Given the description of an element on the screen output the (x, y) to click on. 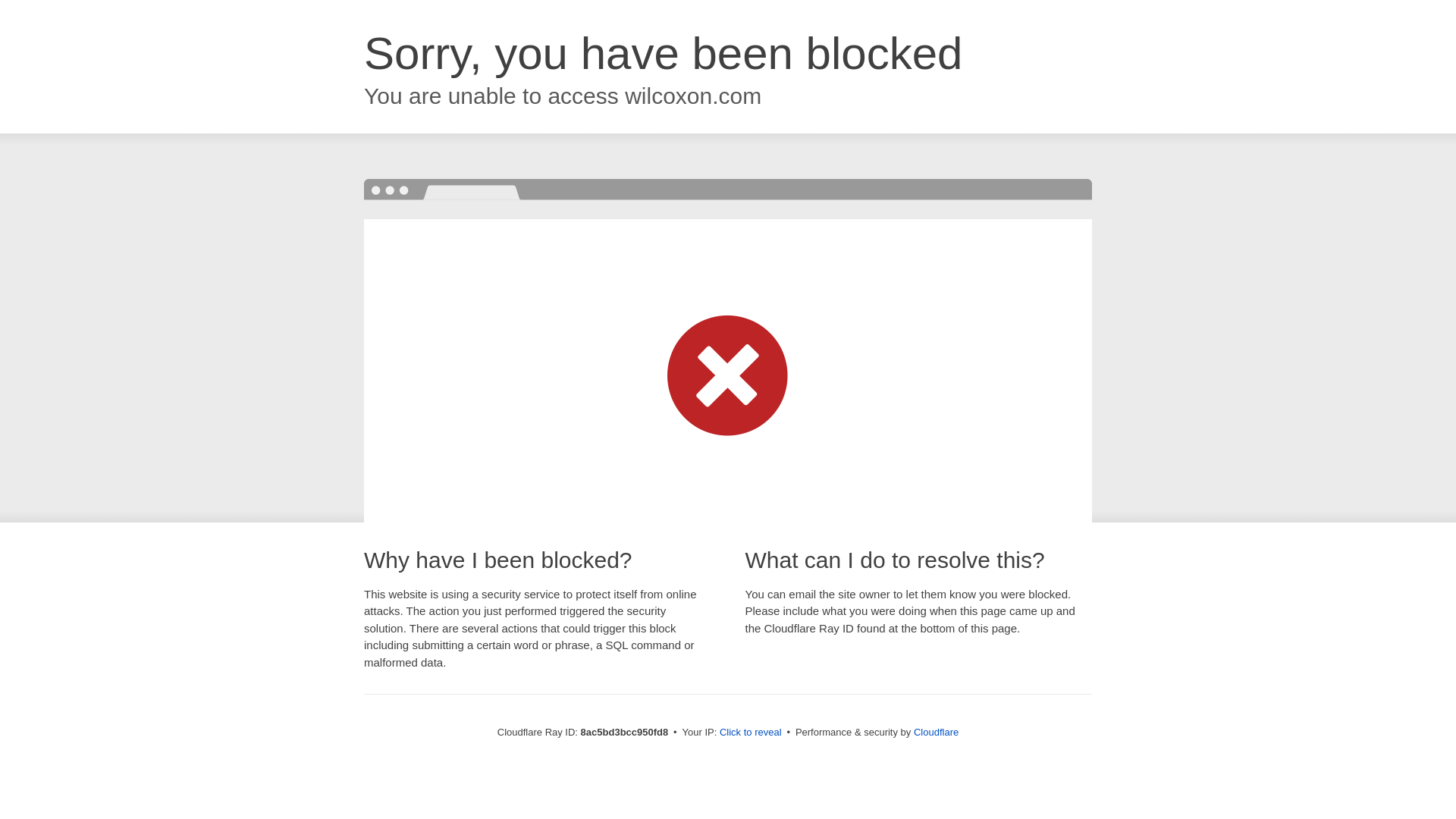
Cloudflare (934, 731)
Click to reveal (748, 732)
